Given the description of an element on the screen output the (x, y) to click on. 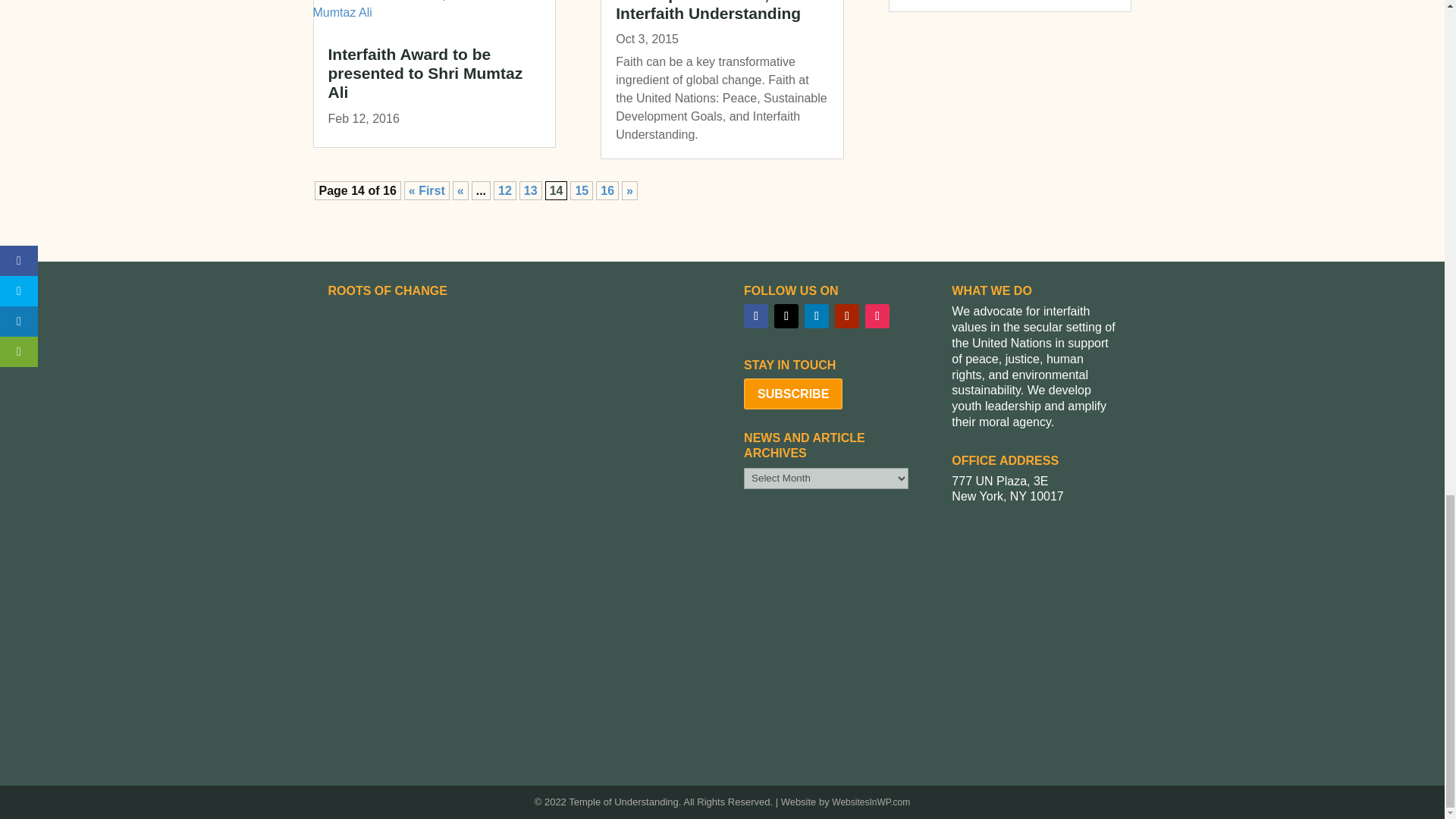
Follow on LinkedIn (816, 315)
Follow on Facebook (756, 315)
Follow on Youtube (846, 315)
Page 13 (530, 189)
Page 12 (504, 189)
Follow on Instagram (876, 315)
Page 15 (581, 189)
Page 16 (606, 189)
Follow on X (785, 315)
